Given the description of an element on the screen output the (x, y) to click on. 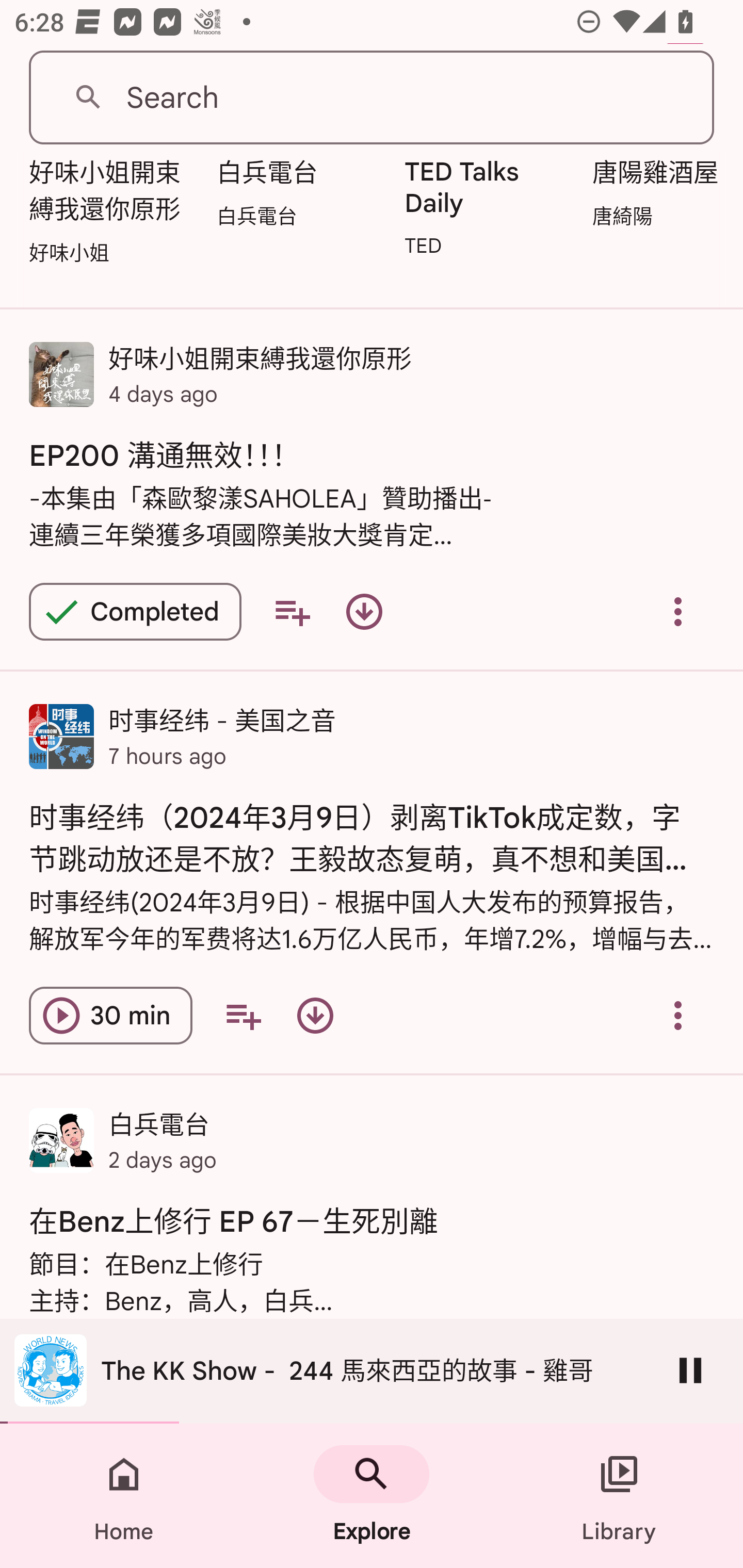
Search (371, 97)
好味小姐開束縛我還你原形 好味小姐 (111, 215)
白兵電台 (299, 196)
TED Talks Daily TED (487, 211)
唐陽雞酒屋 唐綺陽 (662, 196)
Play episode EP200 溝通無效！！！ Completed (134, 611)
Add to your queue (291, 611)
Download episode (364, 611)
Overflow menu (677, 611)
Add to your queue (242, 1015)
Download episode (315, 1015)
Overflow menu (677, 1015)
Pause (690, 1370)
Home (123, 1495)
Library (619, 1495)
